Given the description of an element on the screen output the (x, y) to click on. 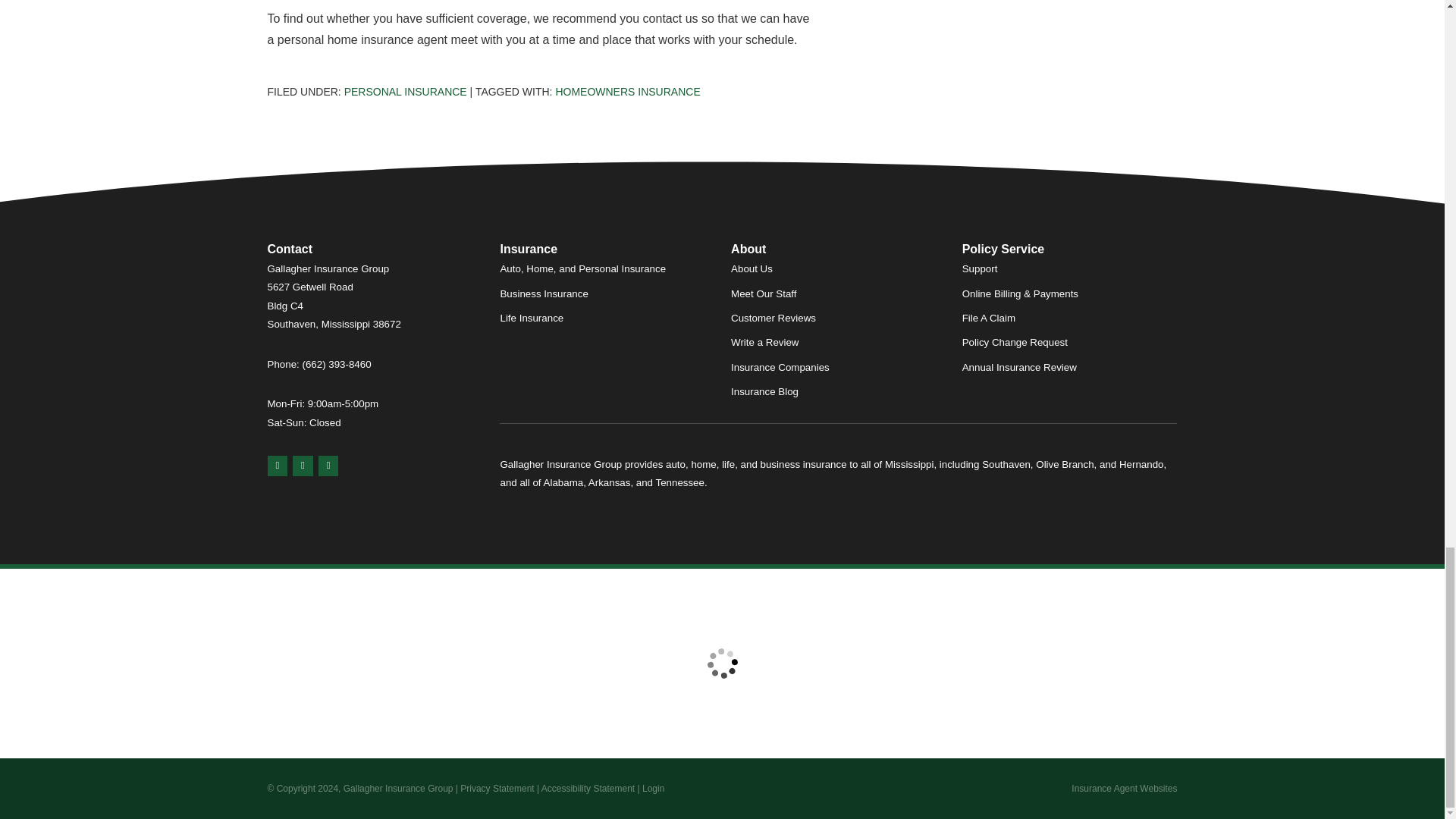
Homeowners Insurance (627, 91)
Yelp (302, 465)
Google Maps (276, 465)
Personal Insurance (405, 91)
Facebook (328, 465)
